Given the description of an element on the screen output the (x, y) to click on. 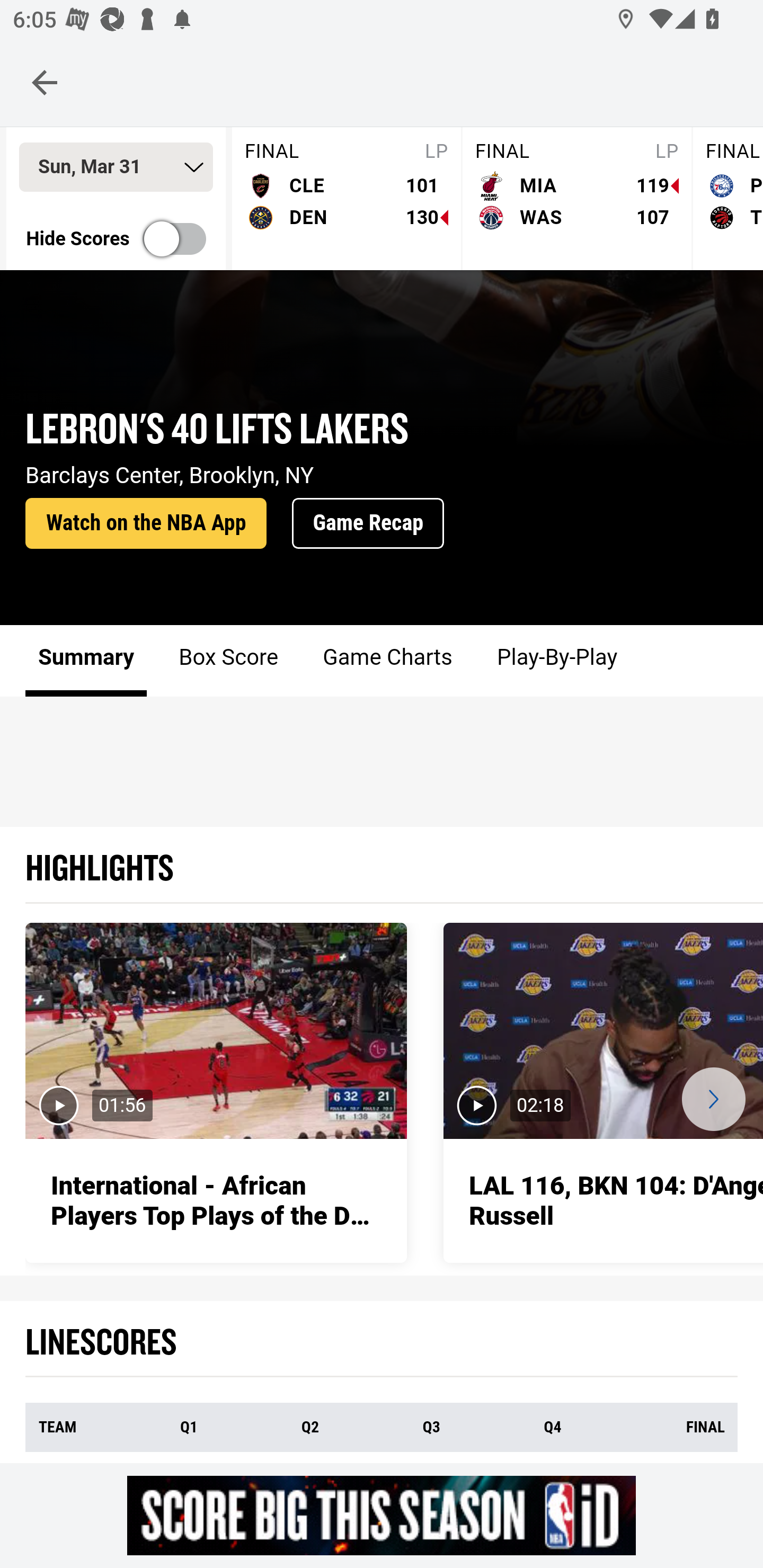
Navigate up (44, 82)
Sun, Mar 31 (115, 168)
Watch on the NBA App (146, 524)
Game Recap (367, 524)
Summary Summary Summary (86, 661)
Box Score Box Score Box Score (228, 661)
Game Charts Game Charts Game Charts (387, 661)
Play-By-Play Play-By-Play Play-By-Play (556, 661)
Carousel Button (713, 1100)
g5nqqygr7owph (381, 1515)
